Given the description of an element on the screen output the (x, y) to click on. 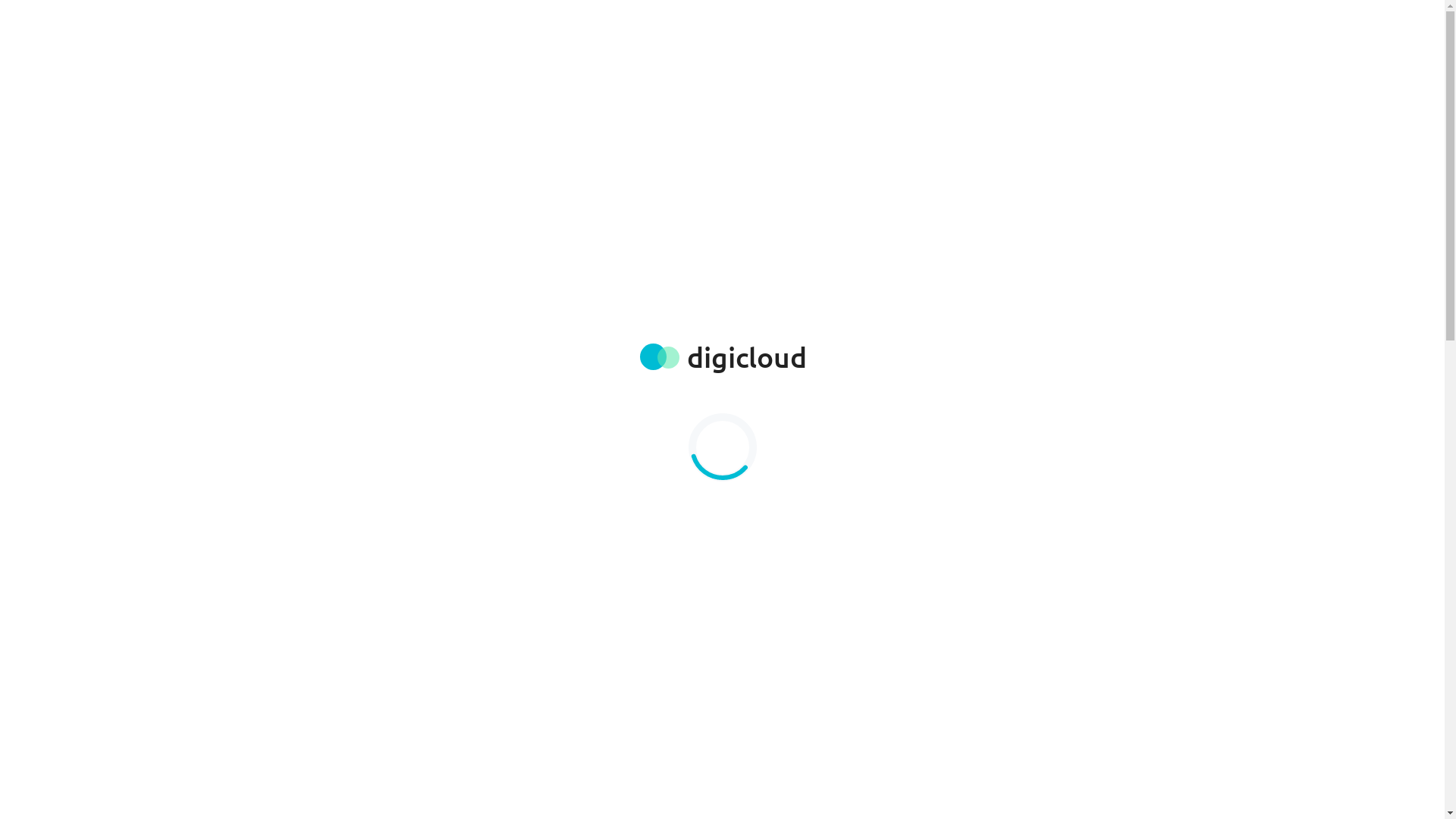
Cloud Software Element type: text (444, 180)
Home Element type: text (737, 28)
Software we work with Element type: text (838, 28)
Opens a widget where you can find more information Element type: hover (1387, 792)
Services we offer Element type: text (976, 28)
Company Info Element type: text (1089, 28)
Home Element type: text (283, 182)
